Given the description of an element on the screen output the (x, y) to click on. 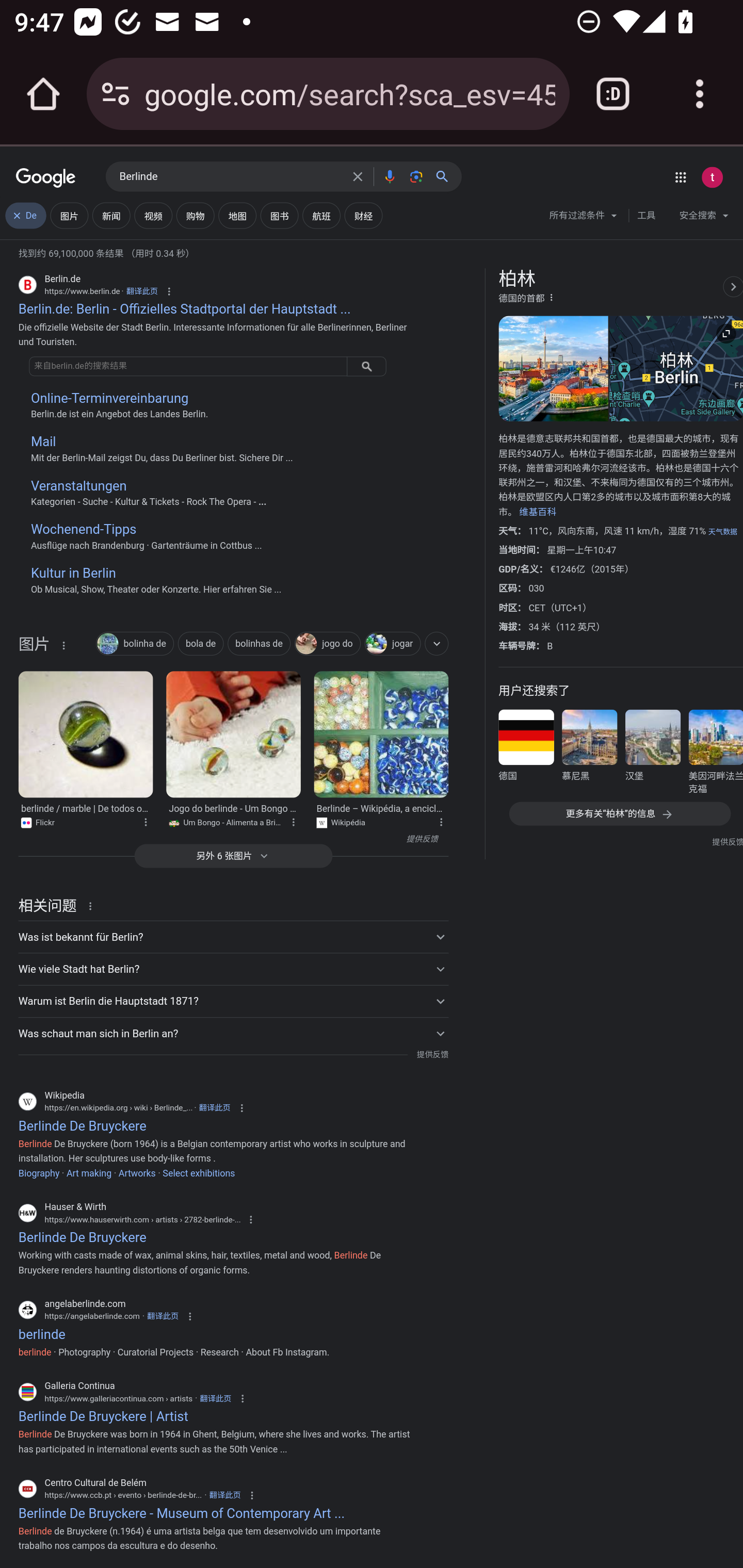
Open the home page (43, 93)
Connection is secure (115, 93)
Switch or close tabs (612, 93)
Customize and control Google Chrome (699, 93)
清除 (357, 176)
按语音搜索 (389, 176)
按图搜索 (415, 176)
搜索 (446, 176)
Google 应用 (680, 176)
Google 账号： test appium (testappium002@gmail.com) (712, 176)
Google (45, 178)
Berlinde (229, 177)
移除“De” De (25, 215)
图片 (68, 215)
新闻 (111, 215)
视频 (152, 215)
购物 (195, 215)
地图 (237, 215)
图书 (278, 215)
航班 (320, 215)
财经 (363, 215)
所有过滤条件 (583, 217)
工具 (646, 215)
安全搜索 (703, 217)
翻译此页 (141, 291)
搜索按钮 (366, 365)
Online-Terminvereinbarung (108, 398)
Mail Mail Mail (217, 441)
Mail (42, 442)
Veranstaltungen (78, 485)
Wochenend-Tipps (82, 529)
Kultur in Berlin (72, 572)
图片 (33, 647)
bolinha de (134, 644)
bola de (199, 644)
bolinhas de (258, 644)
jogo do (327, 644)
jogar (392, 644)
按功能过滤 (436, 643)
关于这条结果的详细信息 (62, 645)
Berlinde – Wikipédia, a enciclopédia livre (380, 734)
关于这条结果的详细信息 (145, 820)
关于这条结果的详细信息 (292, 820)
关于这条结果的详细信息 (440, 820)
提供反馈 (227, 838)
另外 6 张图片 (232, 855)
关于这条结果的详细信息 (93, 905)
Was ist bekannt für Berlin? (232, 936)
Wie viele Stadt hat Berlin? (232, 969)
Warum ist Berlin die Hauptstadt 1871? (232, 1000)
Was schaut man sich in Berlin an? (232, 1032)
提供反馈 (432, 1053)
翻译此页 (214, 1108)
Biography (38, 1173)
Art making (88, 1173)
Artworks (136, 1173)
Select exhibitions (198, 1173)
翻译此页 (162, 1315)
翻译此页 (215, 1398)
翻译此页 (224, 1494)
